Given the description of an element on the screen output the (x, y) to click on. 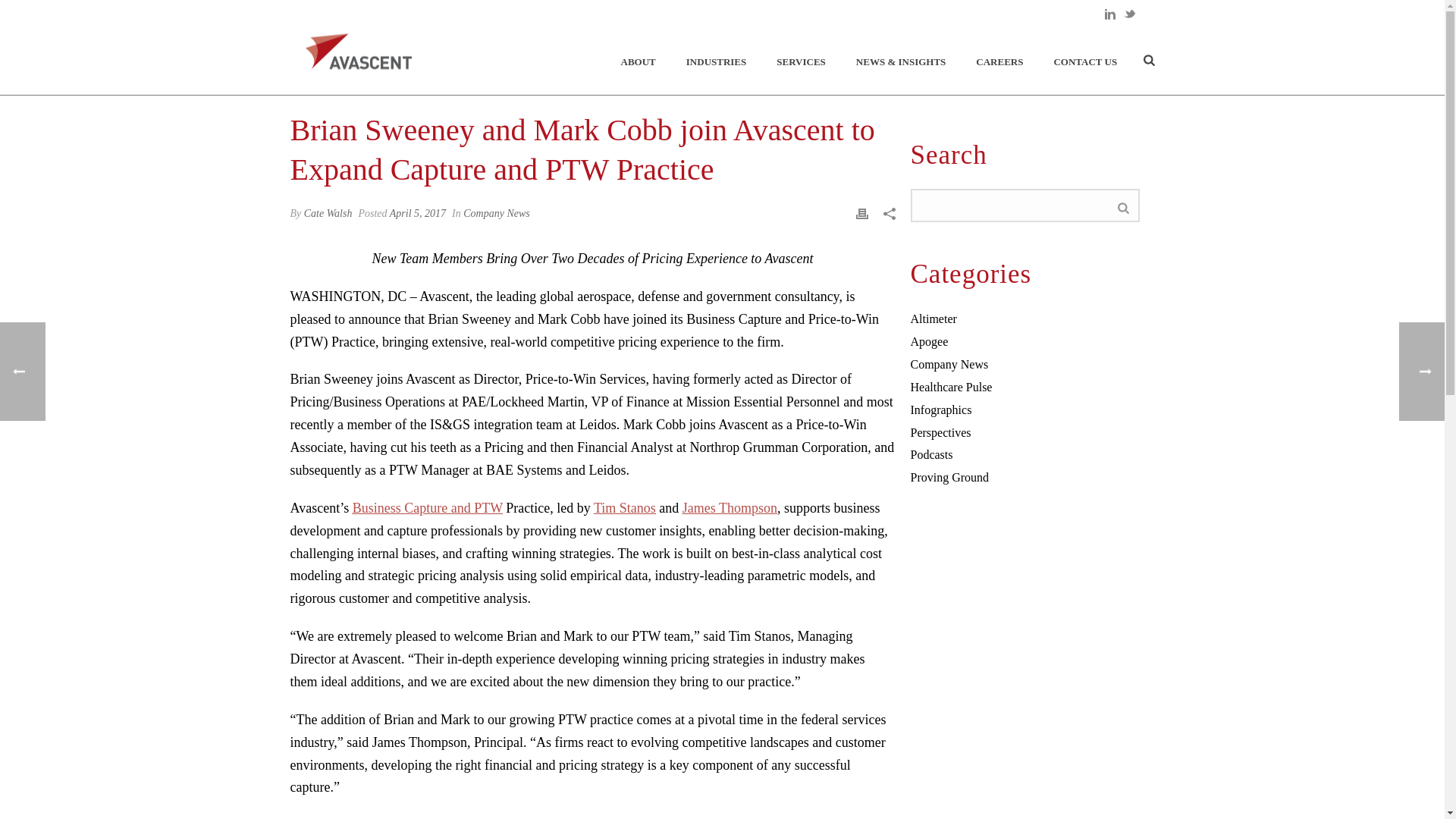
Company News (949, 364)
Healthcare Pulse (950, 386)
CONTACT US (1085, 62)
Altimeter (933, 318)
Cate Walsh (328, 213)
CAREERS (999, 62)
April 5, 2017 (417, 213)
CONTACT US (1085, 62)
Infographics (940, 409)
SERVICES (801, 62)
ABOUT (638, 62)
Posts by Cate Walsh (328, 213)
INDUSTRIES (716, 62)
ABOUT (638, 62)
Print (861, 212)
